Given the description of an element on the screen output the (x, y) to click on. 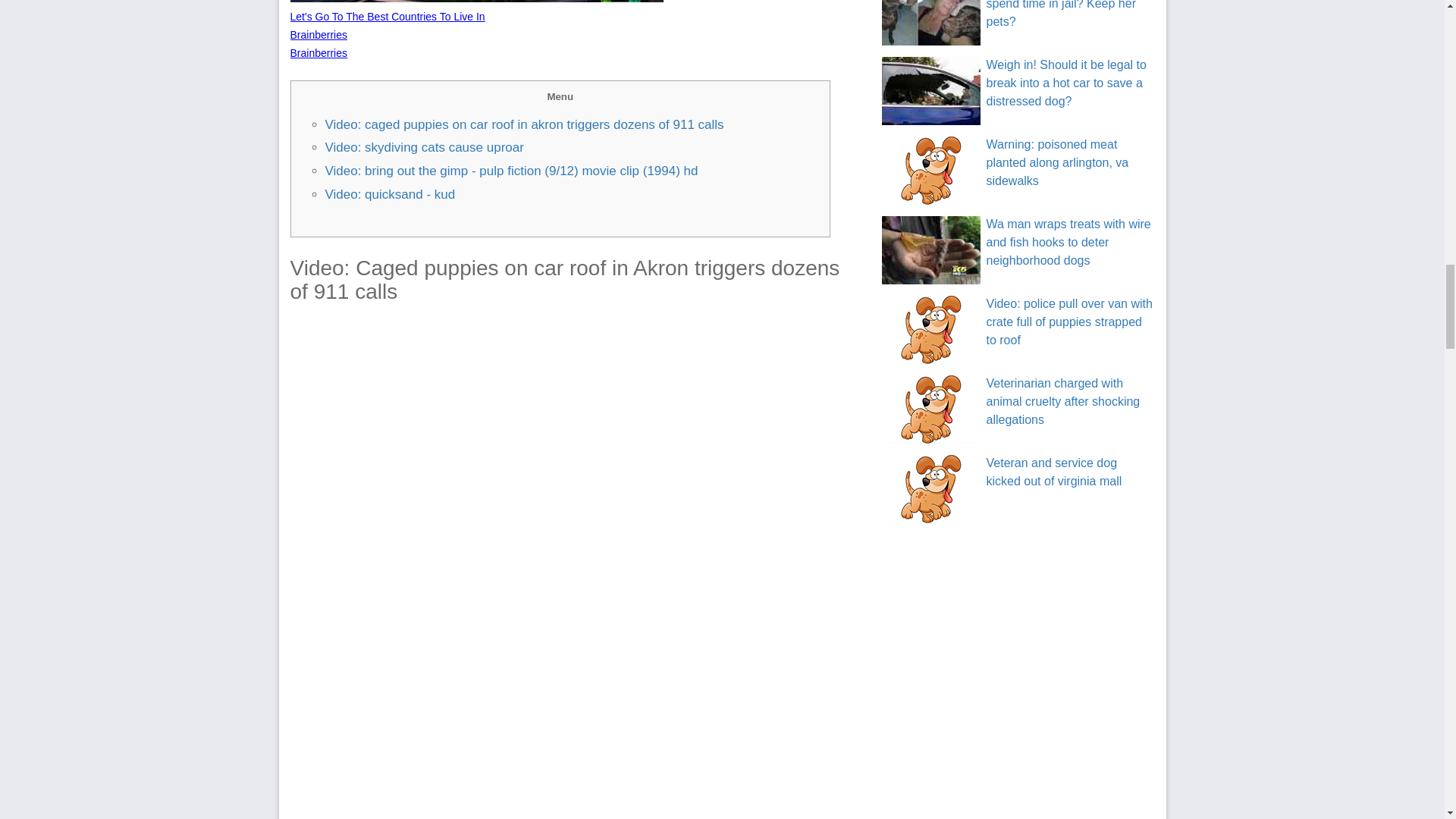
Video: skydiving cats cause uproar (423, 147)
Video: quicksand - kud (389, 194)
